Given the description of an element on the screen output the (x, y) to click on. 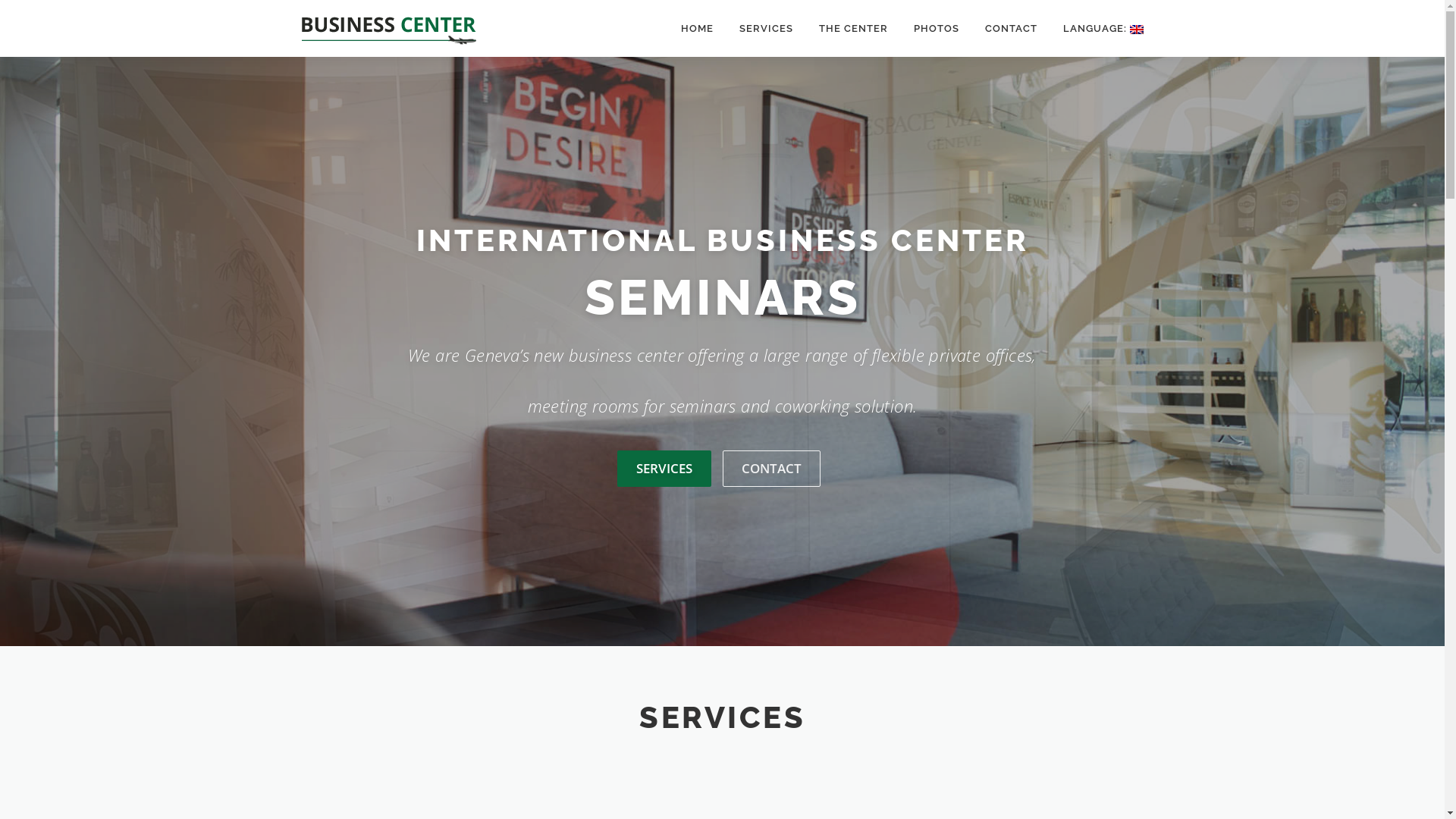
SERVICES Element type: text (766, 28)
LANGUAGE:  Element type: text (1095, 28)
THE CENTER Element type: text (852, 28)
SERVICES Element type: text (664, 468)
PHOTOS Element type: text (936, 28)
HOME Element type: text (696, 28)
CONTACT Element type: text (770, 468)
CONTACT Element type: text (1011, 28)
